Given the description of an element on the screen output the (x, y) to click on. 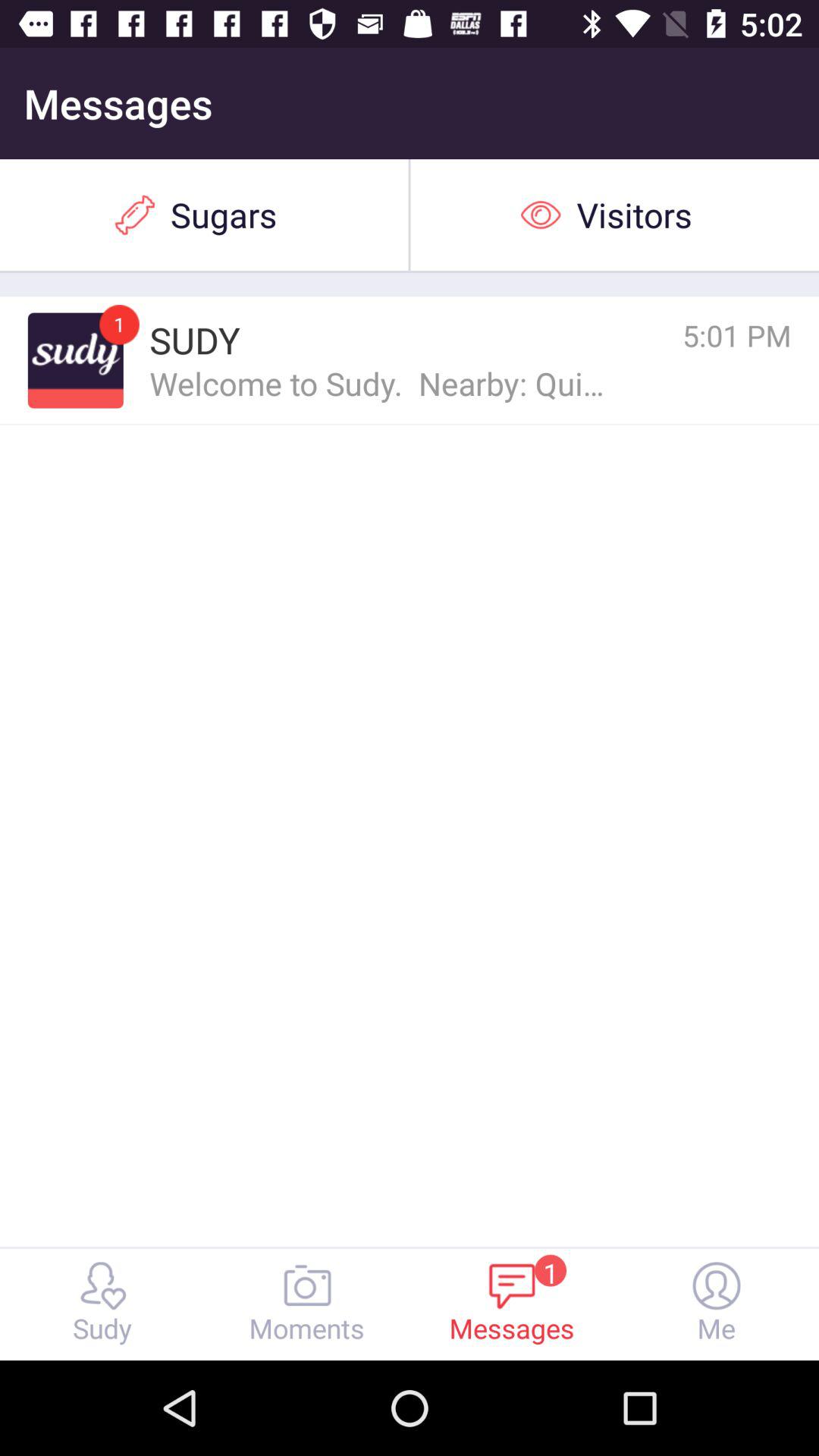
flip until 5:01 pm (669, 335)
